Given the description of an element on the screen output the (x, y) to click on. 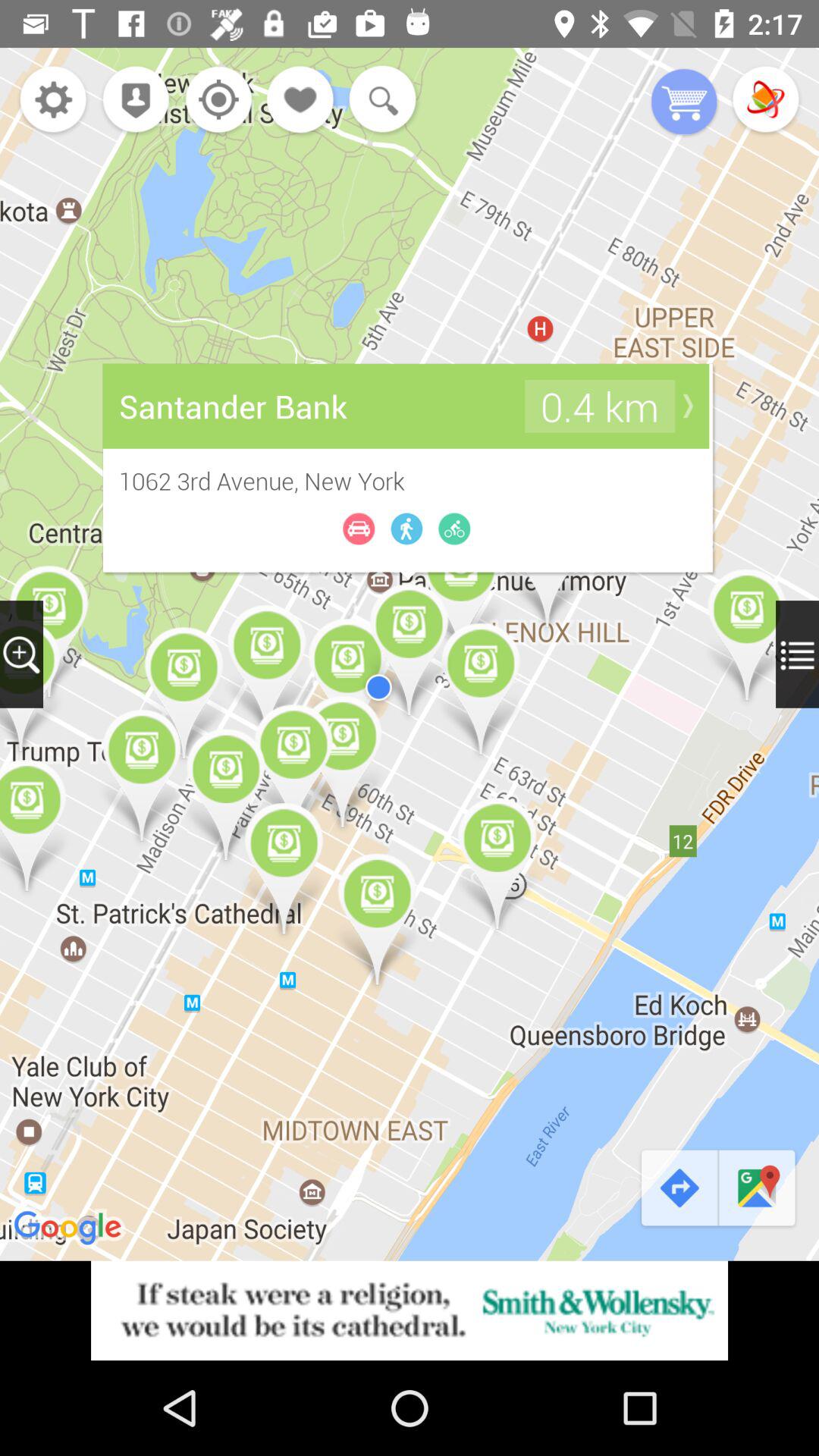
expand view (797, 654)
